Given the description of an element on the screen output the (x, y) to click on. 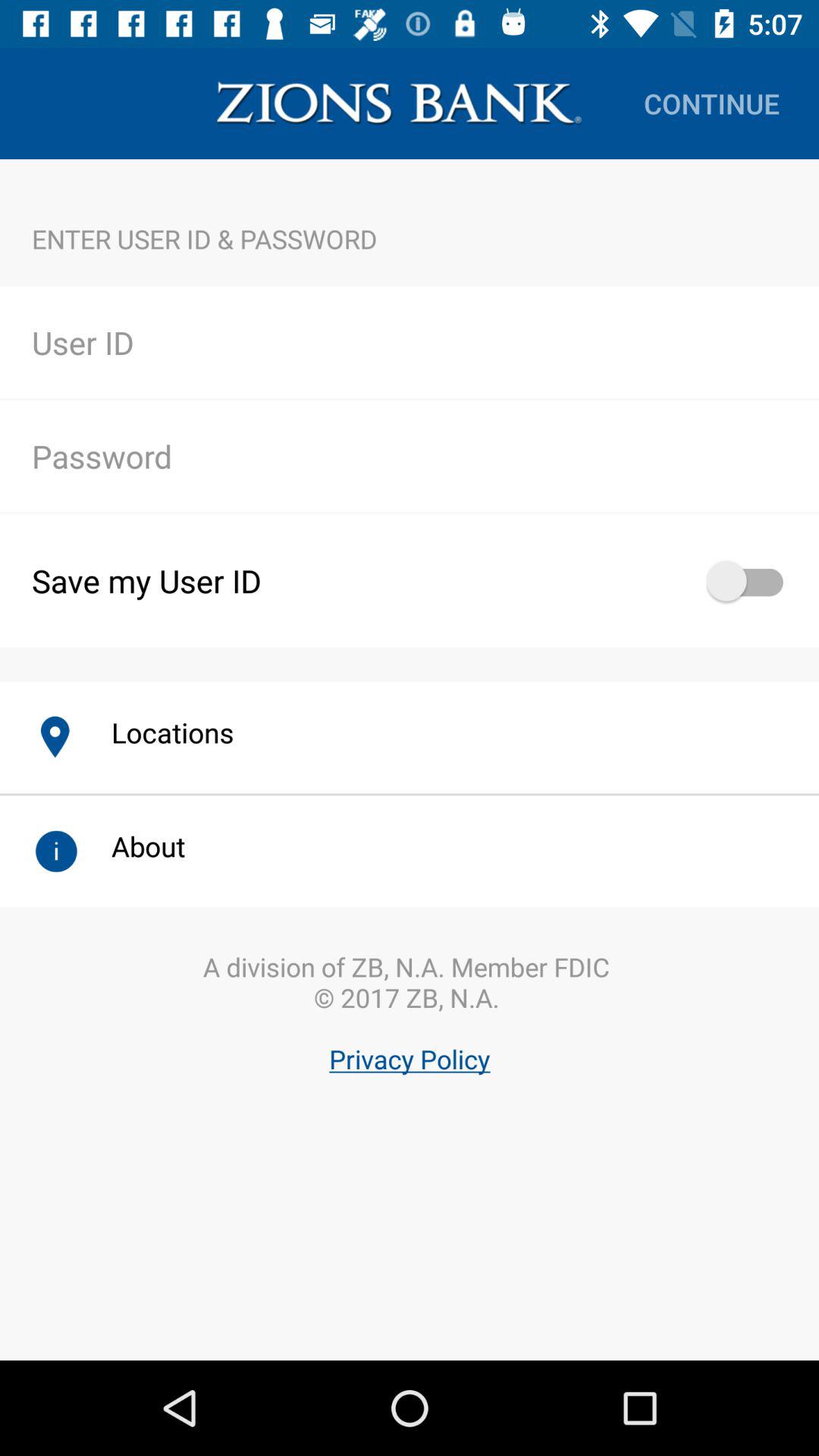
click item next to continue (399, 103)
